Given the description of an element on the screen output the (x, y) to click on. 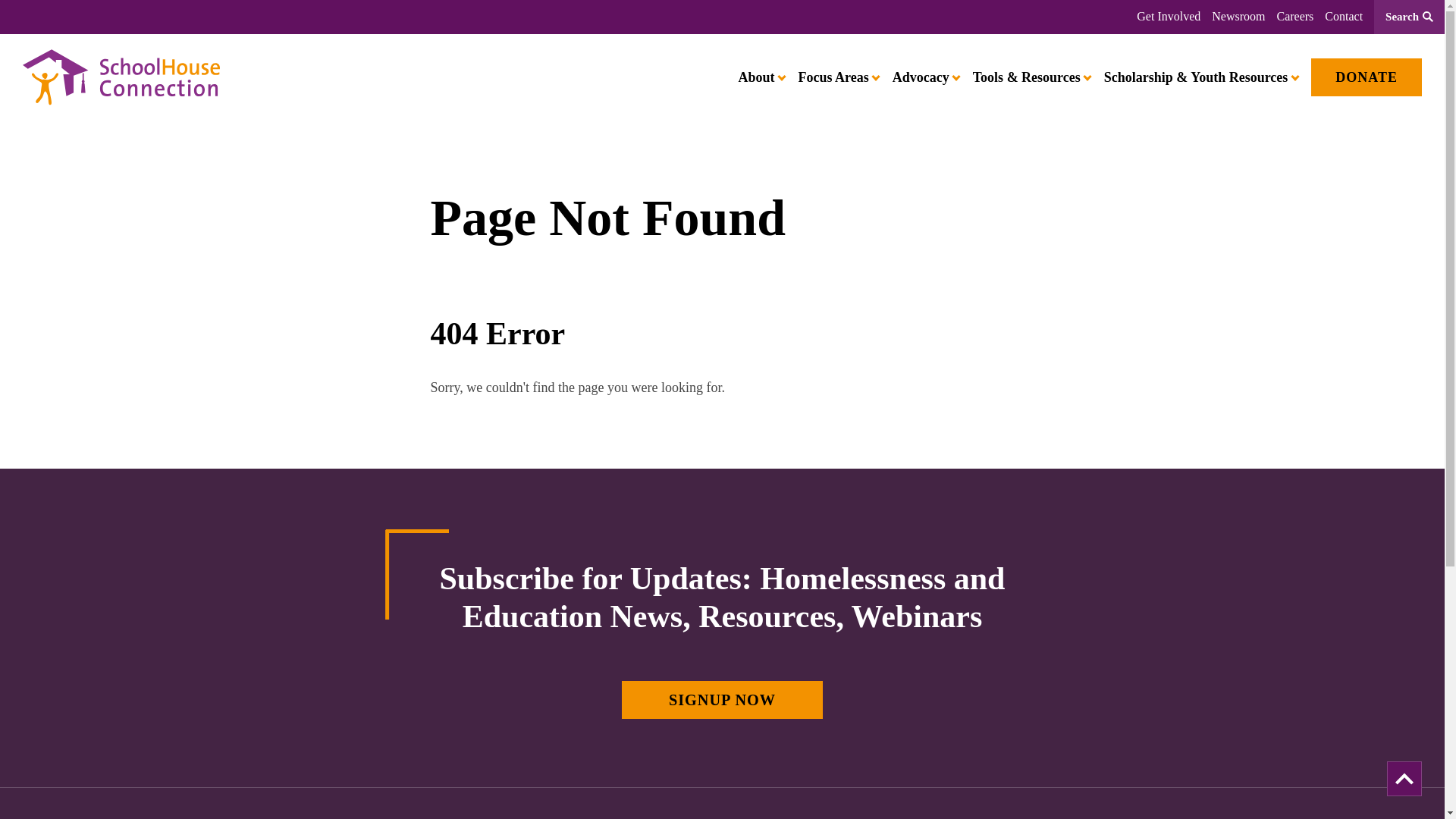
Newsroom (1238, 17)
homepage (121, 77)
Get Involved (1168, 17)
DONATE (1366, 77)
SIGNUP NOW (721, 699)
Contact (1343, 17)
Careers (1294, 17)
Focus Areas (837, 77)
